Given the description of an element on the screen output the (x, y) to click on. 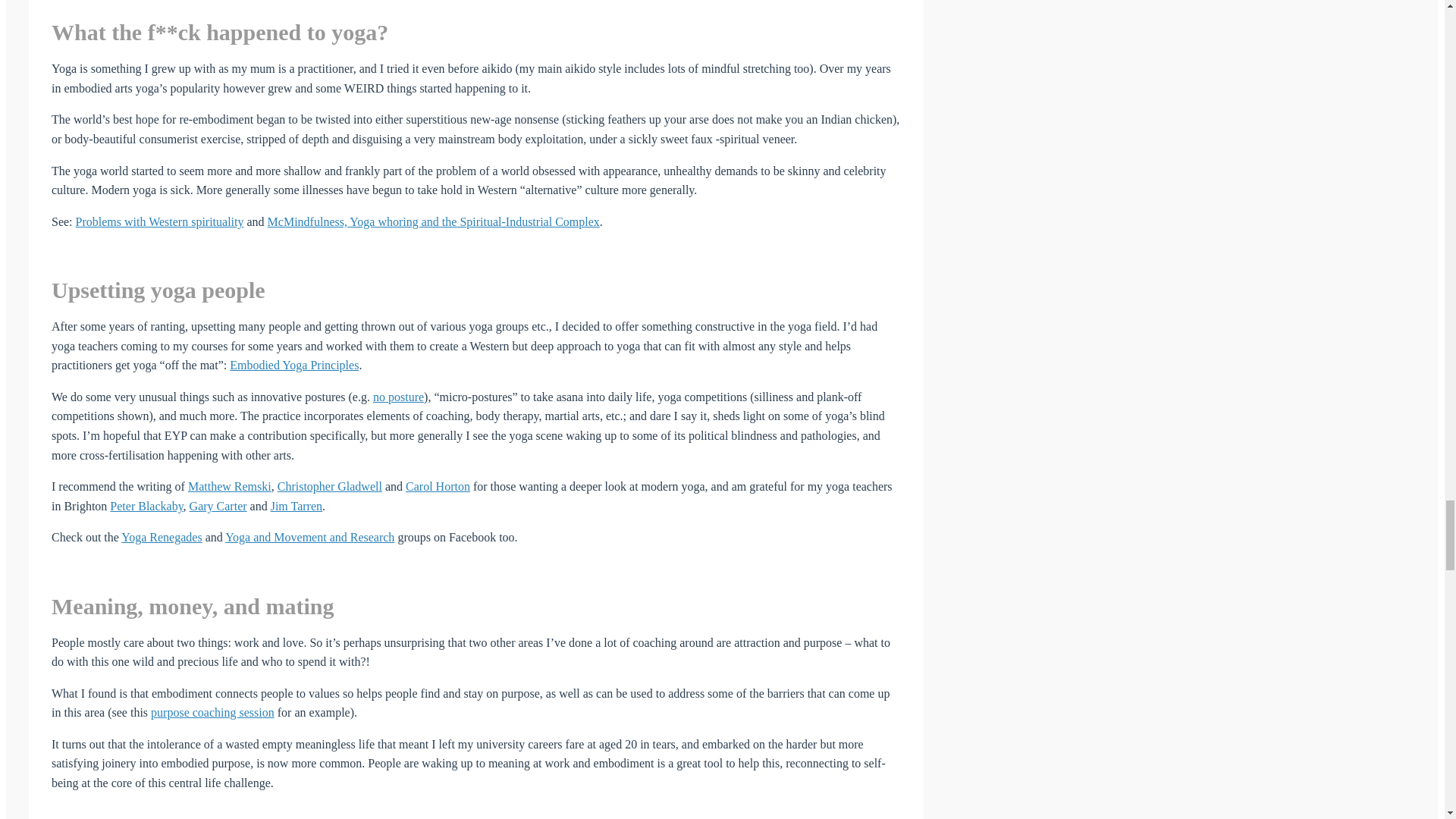
Carol Horton (438, 486)
Yoga Renegades (161, 536)
Gary Carter (218, 505)
Complex (576, 221)
Peter Blackaby (146, 505)
no posture (397, 396)
Christopher Gladwell (329, 486)
Matthew Remski (228, 486)
Problems with Western spirituality (159, 221)
purpose coaching session (213, 712)
Yoga and Movement and Research (309, 536)
Jim Tarren (295, 505)
Embodied Yoga Principles (294, 364)
McMindfulness, Yoga whoring and the Spiritual-Industrial  (411, 221)
